Given the description of an element on the screen output the (x, y) to click on. 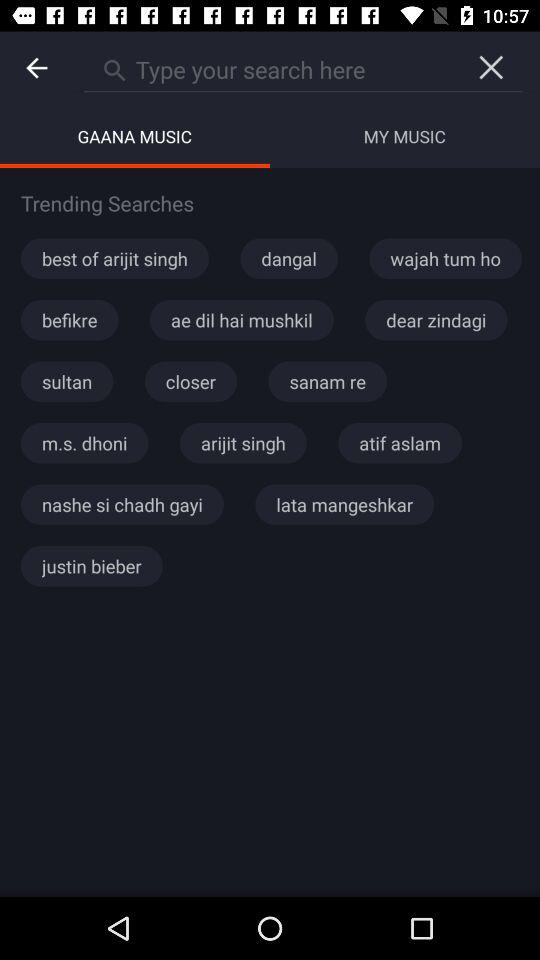
return to previous (36, 68)
